Given the description of an element on the screen output the (x, y) to click on. 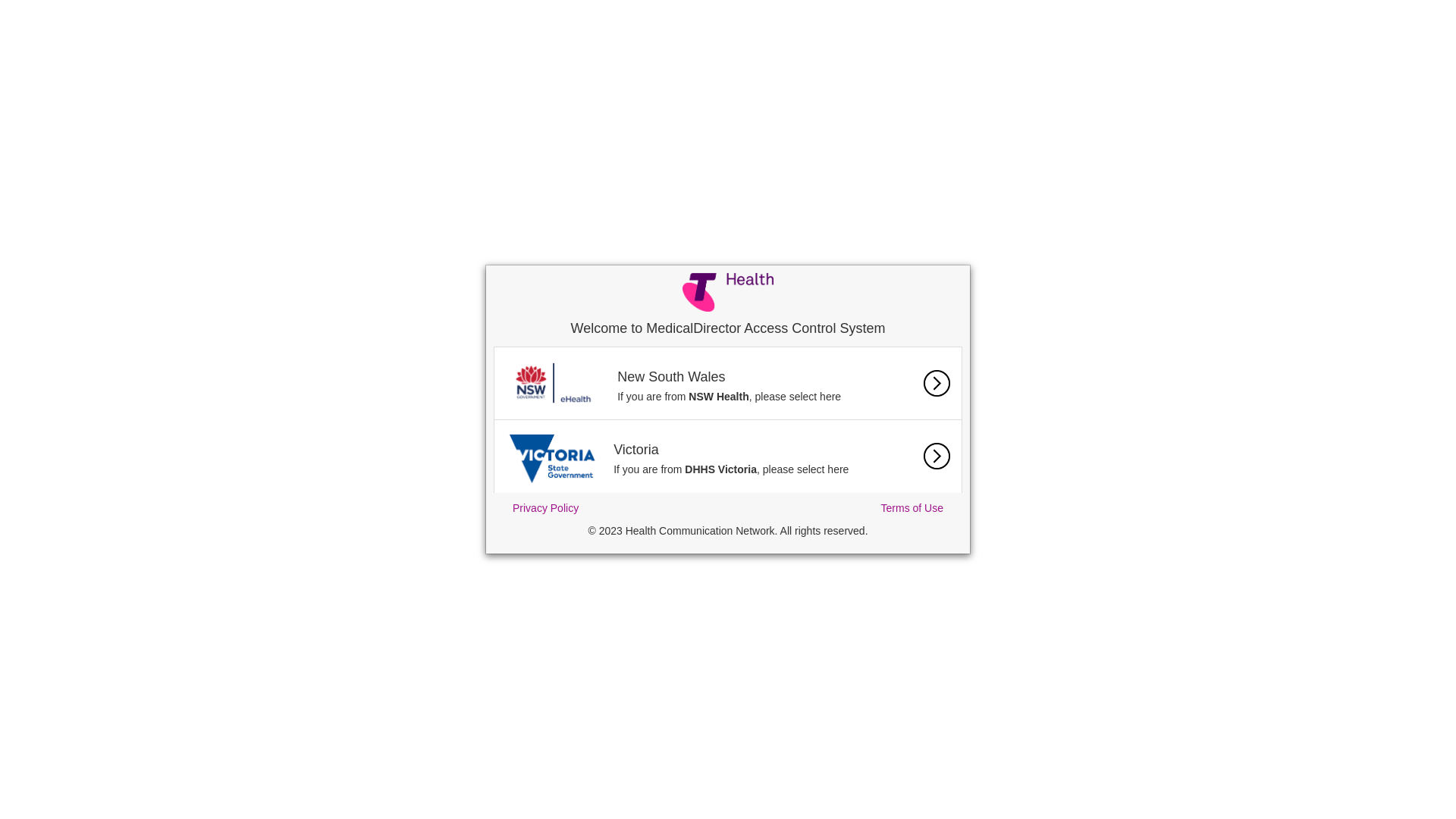
Terms of Use Element type: text (912, 508)
Privacy Policy Element type: text (545, 508)
